Given the description of an element on the screen output the (x, y) to click on. 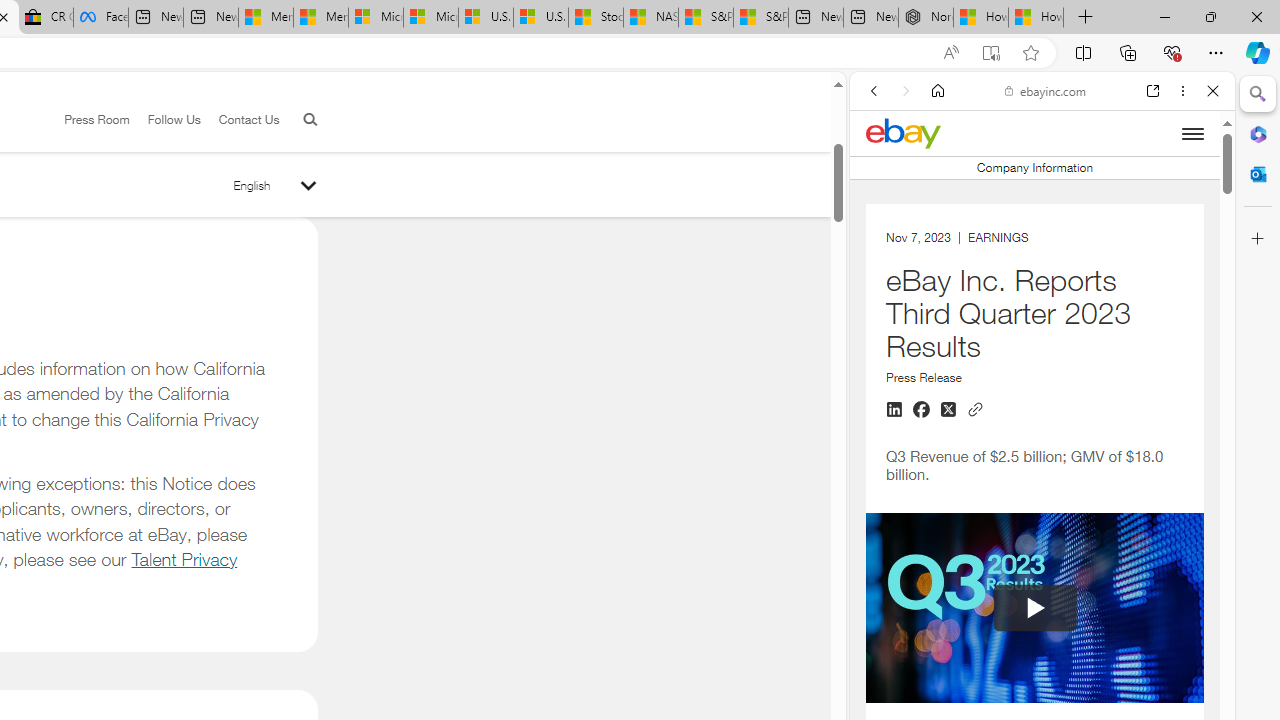
Facebook (100, 17)
Global web icon (888, 495)
eBay Inc. Reports Fourth Quarter and Full Year 2023 Results (1034, 301)
Forward (906, 91)
ebayinc.com (1045, 90)
About eBay (1034, 493)
